Given the description of an element on the screen output the (x, y) to click on. 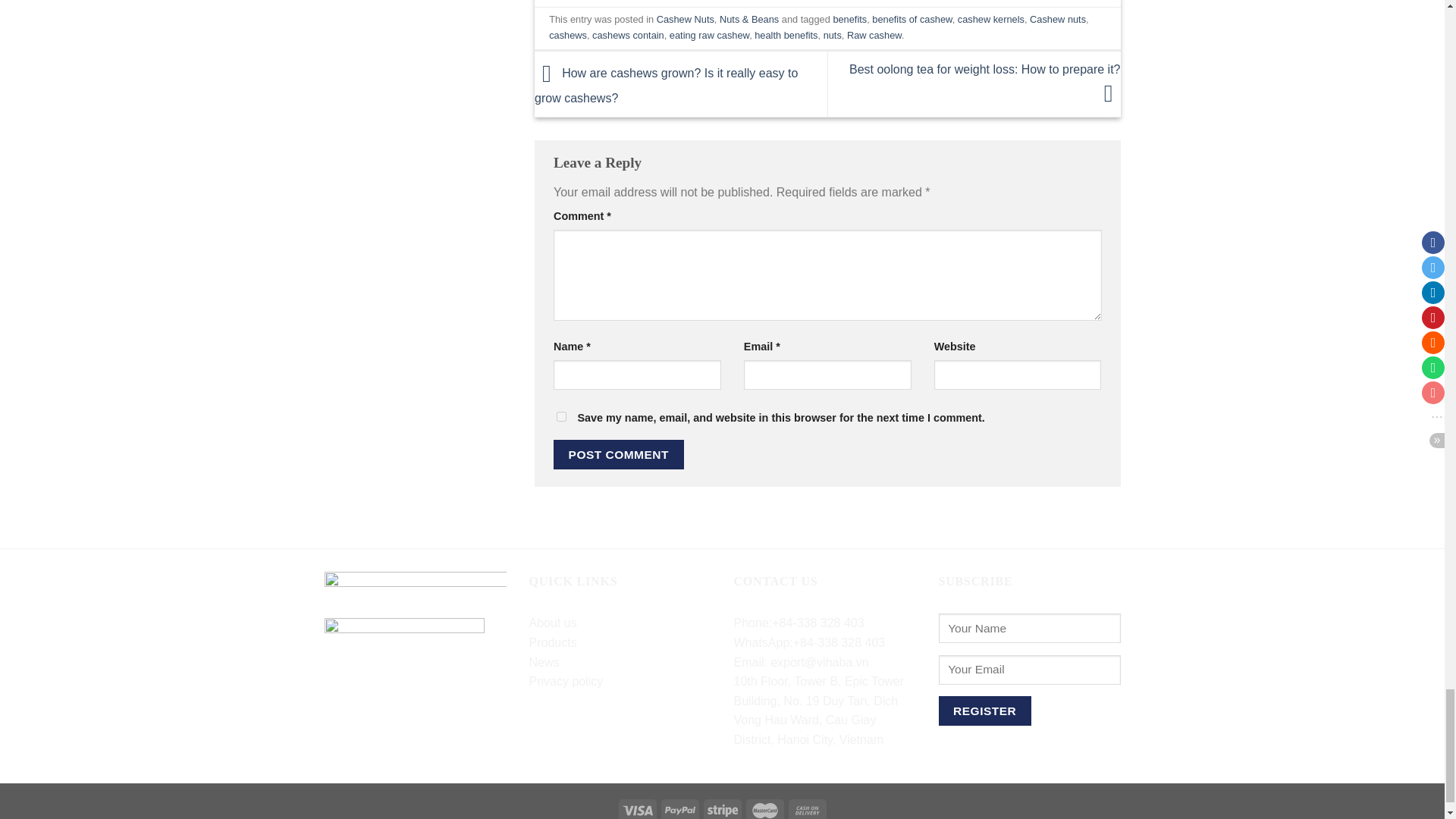
REGISTER (984, 710)
yes (561, 416)
Post Comment (618, 454)
